Given the description of an element on the screen output the (x, y) to click on. 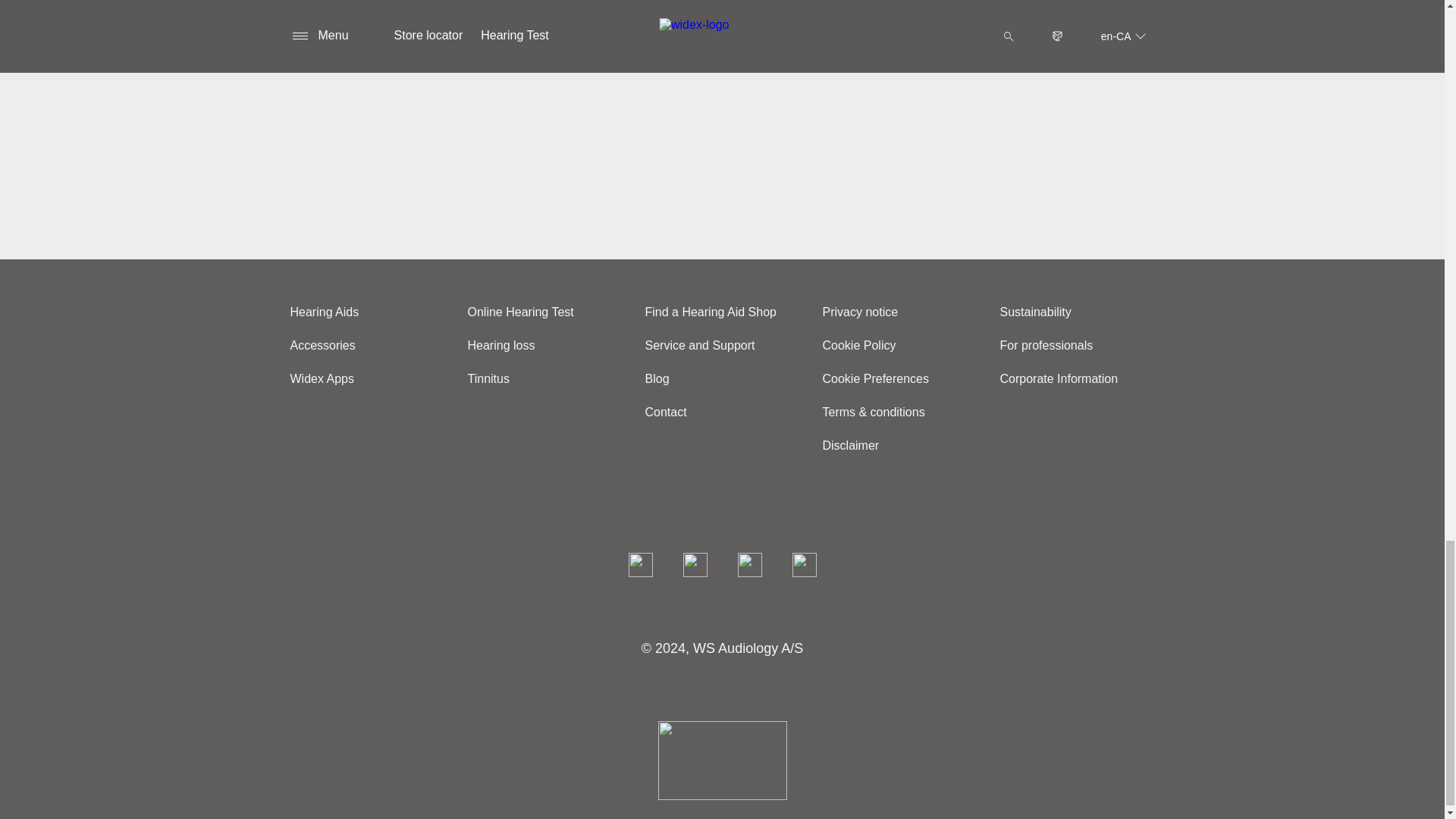
Contact (671, 411)
Cookie Policy (864, 345)
Disclaimer (855, 445)
Service and Support (705, 345)
Online Hearing Test (526, 311)
Tinnitus (493, 378)
Hearing Aids (329, 311)
Corporate Information (1063, 378)
Sustainability (1039, 311)
Find a Hearing Aid Shop (716, 311)
Accessories (327, 345)
Hearing loss (506, 345)
For professionals (1050, 345)
Blog (662, 378)
Cookie Preferences (881, 378)
